Given the description of an element on the screen output the (x, y) to click on. 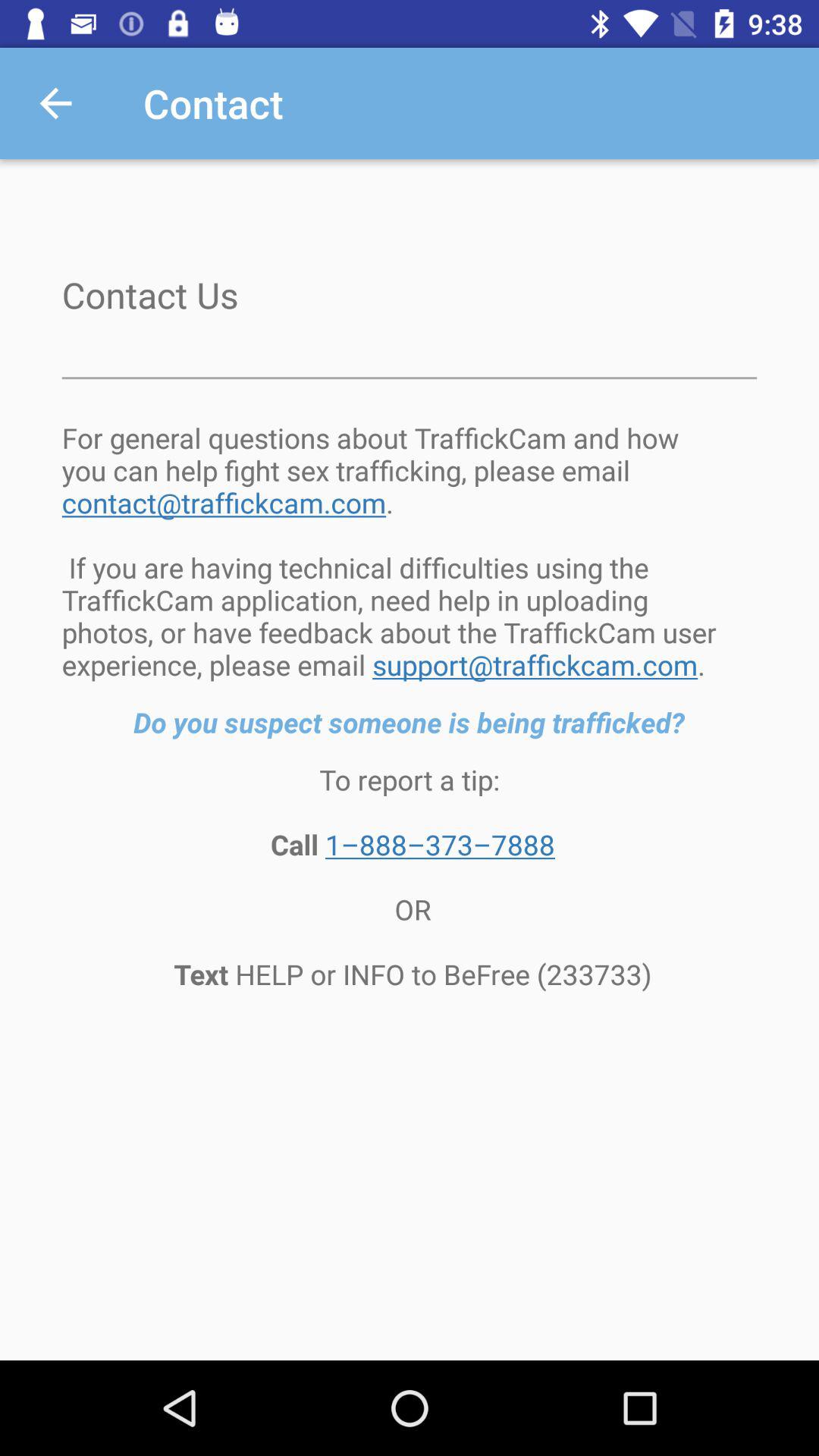
tap the icon above contact us (55, 103)
